Given the description of an element on the screen output the (x, y) to click on. 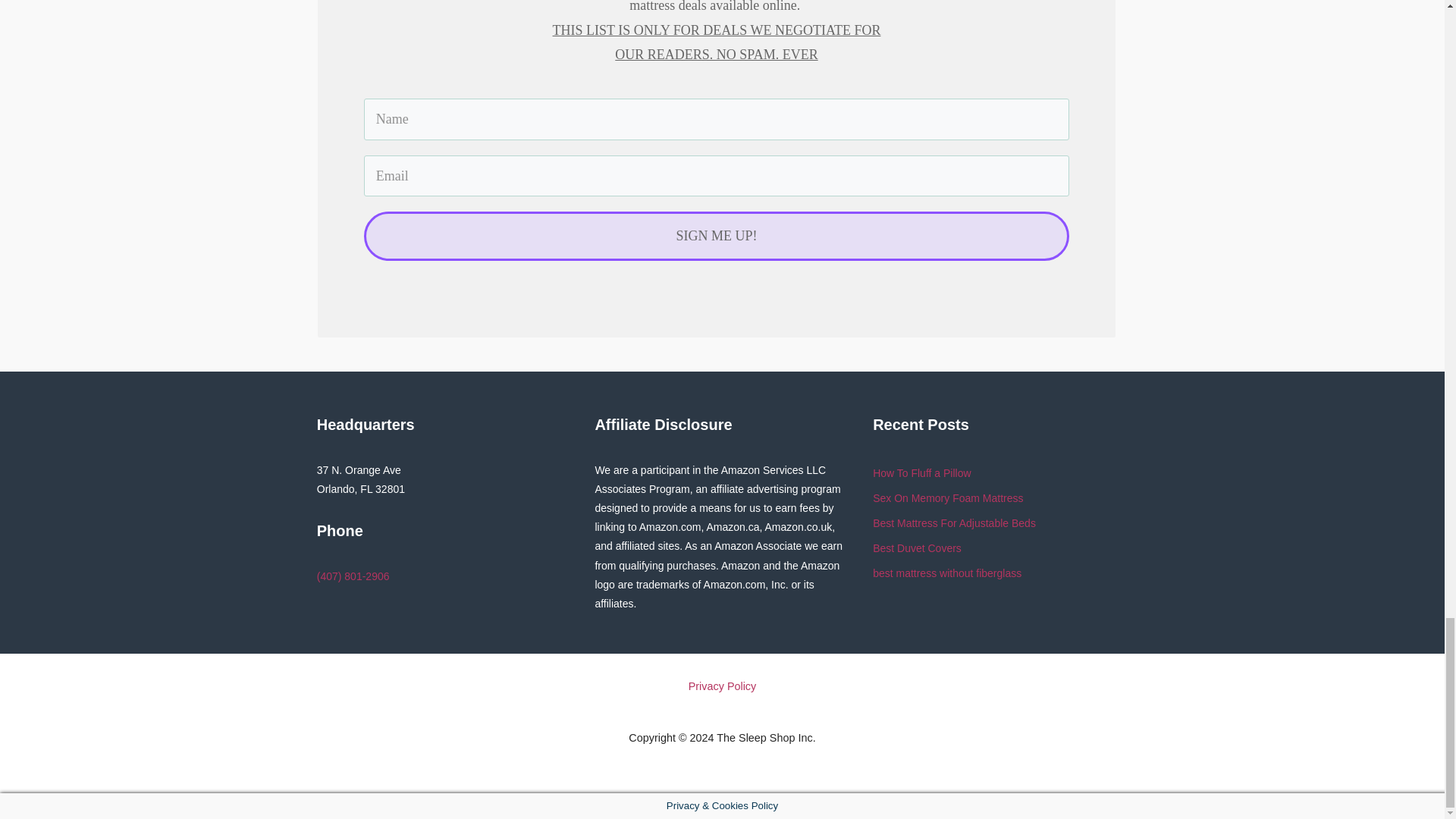
best mattress without fiberglass (947, 573)
Best Mattress For Adjustable Beds (953, 522)
Sex On Memory Foam Mattress (947, 498)
SIGN ME UP! (716, 235)
Best Duvet Covers (916, 548)
Privacy Policy (722, 686)
How To Fluff a Pillow (921, 472)
